Given the description of an element on the screen output the (x, y) to click on. 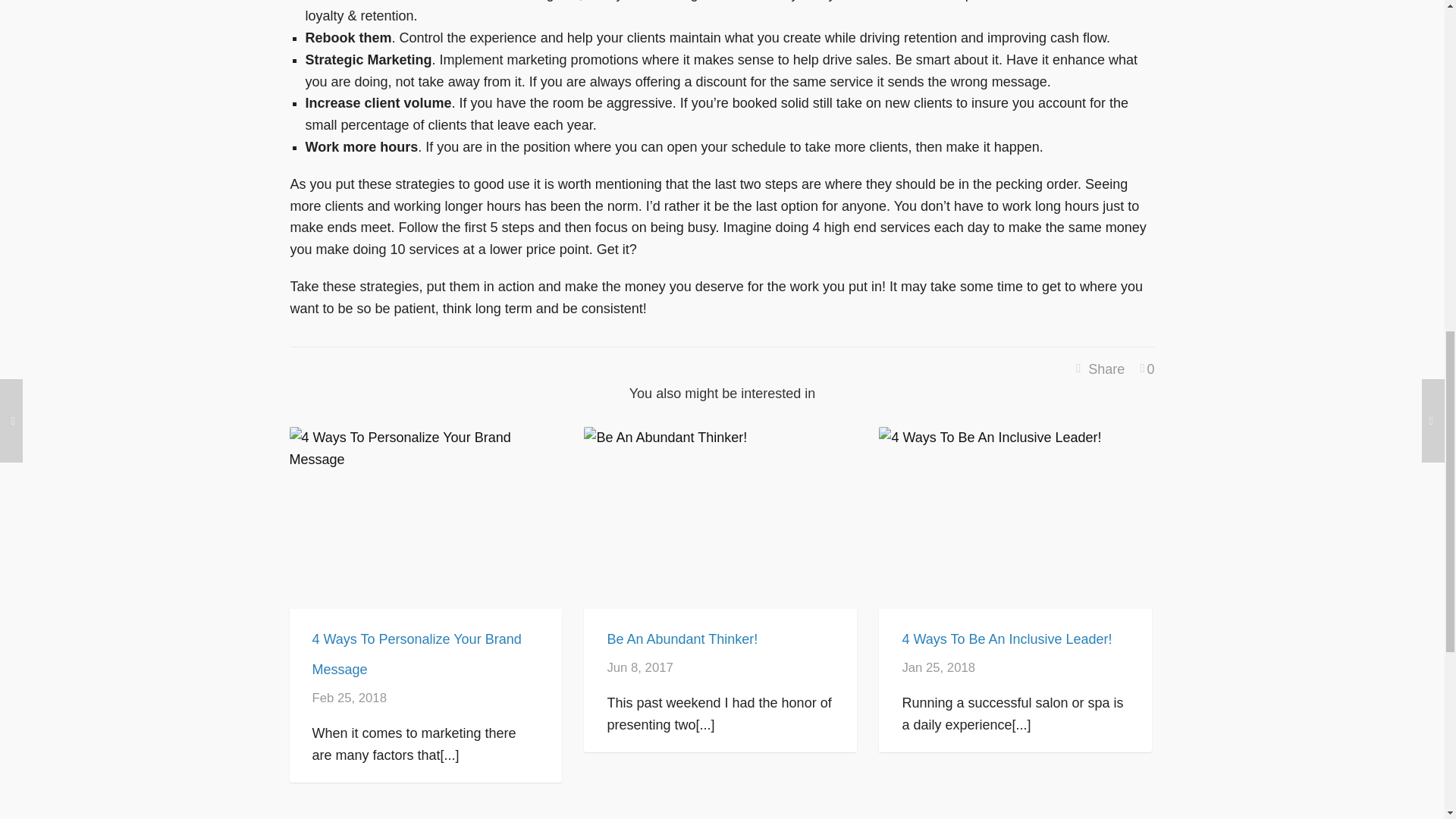
4 Ways To Be An Inclusive Leader! (1006, 639)
4 Ways To Personalize Your Brand Message (417, 654)
Be An Abundant Thinker! (682, 639)
